Given the description of an element on the screen output the (x, y) to click on. 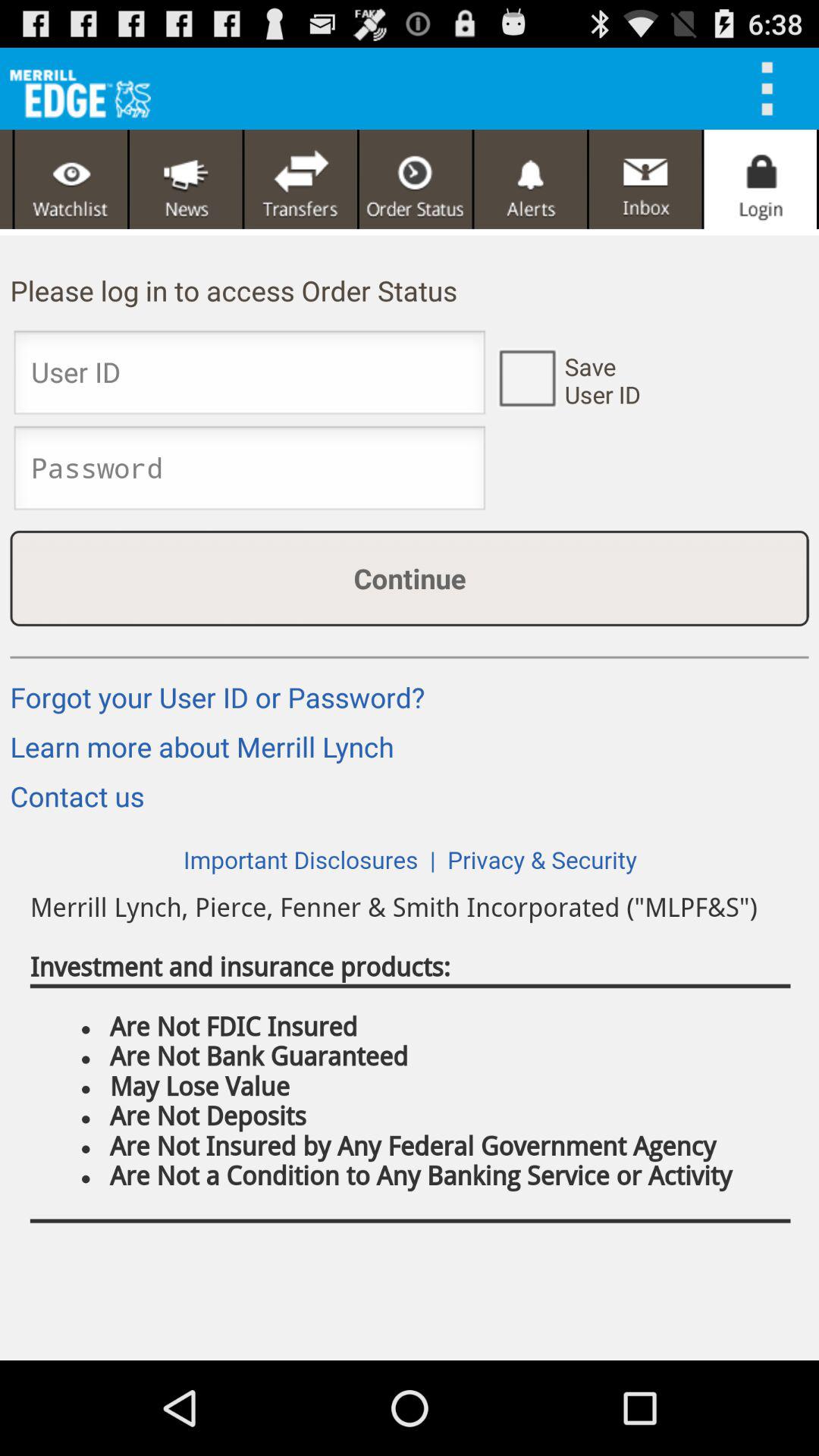
password input (249, 472)
